Given the description of an element on the screen output the (x, y) to click on. 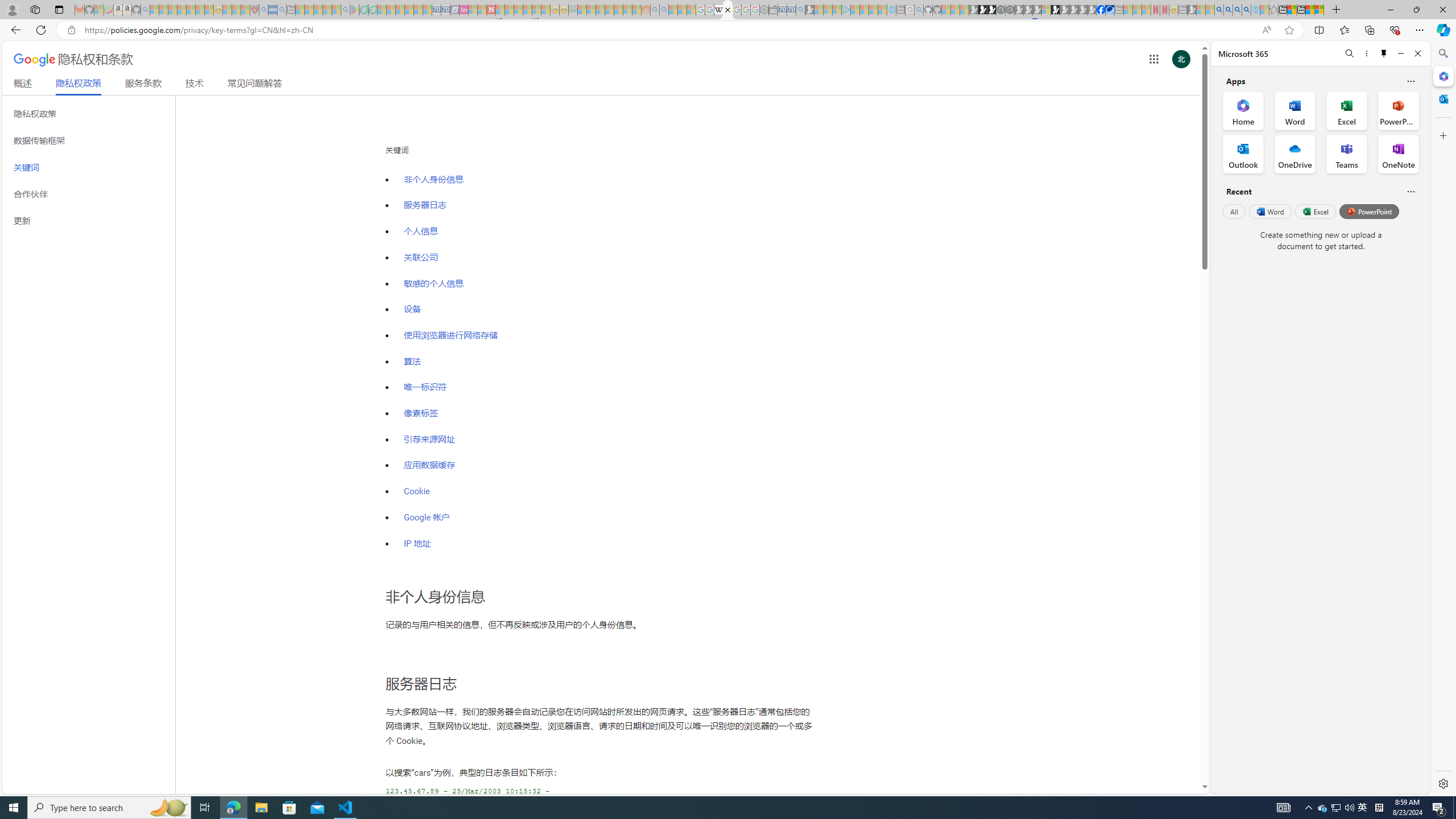
Cookie (606, 486)
Settings - Sleeping (763, 9)
Word Office App (1295, 110)
